Given the description of an element on the screen output the (x, y) to click on. 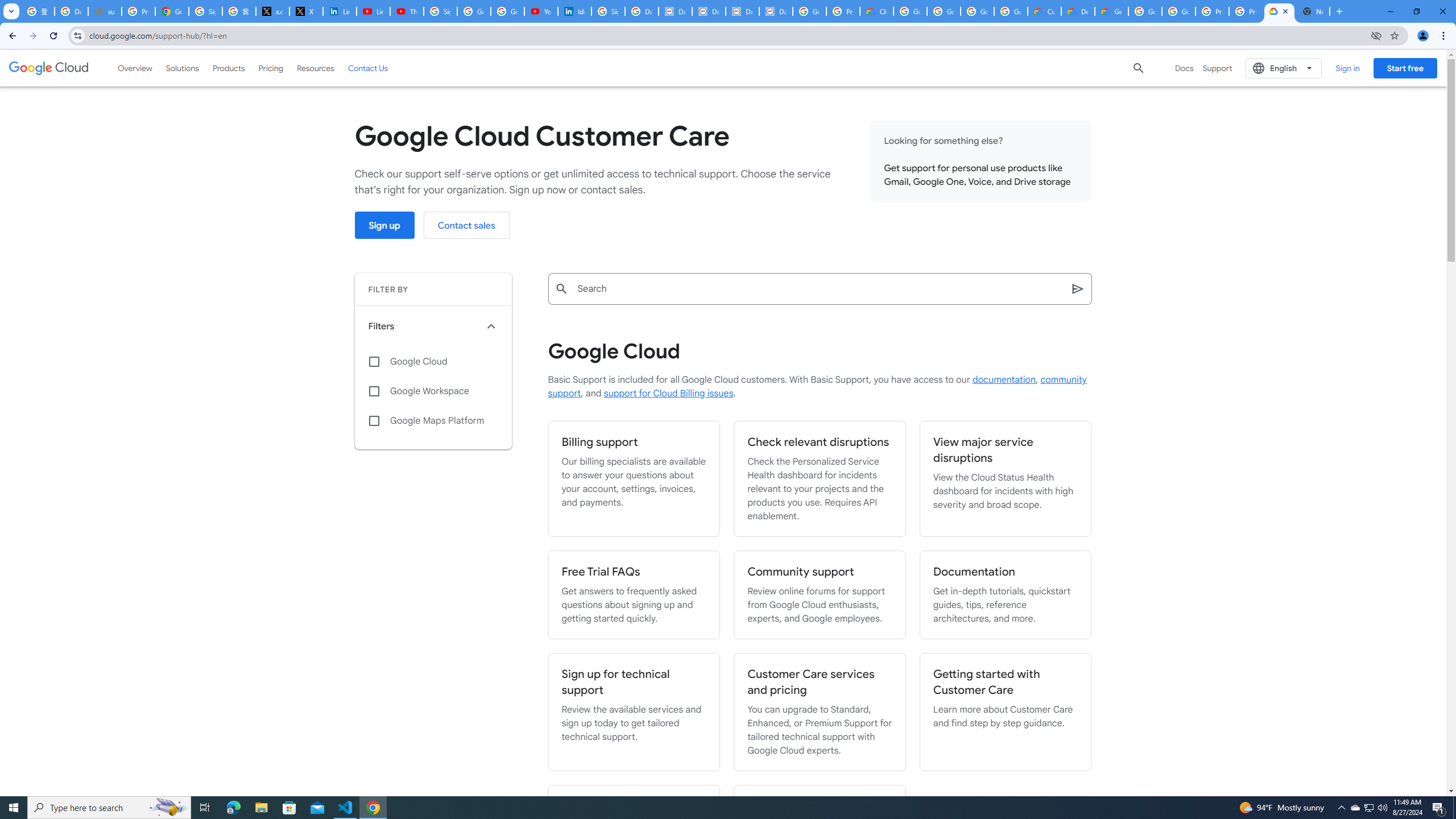
Products (228, 67)
Search (1078, 288)
Contact Us (368, 67)
support.google.com - Network error (104, 11)
